Given the description of an element on the screen output the (x, y) to click on. 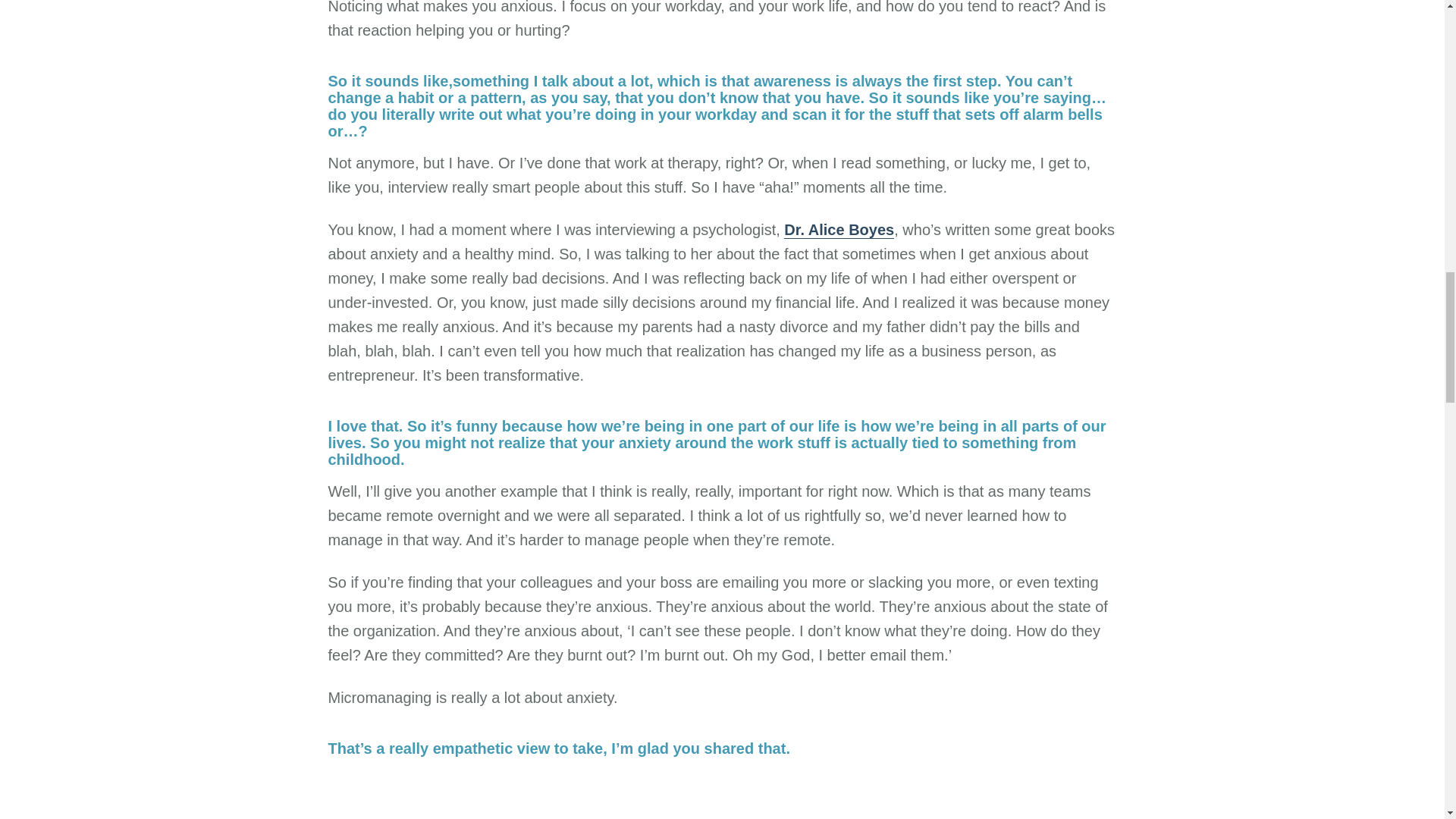
Dr. Alice Boyes (838, 230)
